Given the description of an element on the screen output the (x, y) to click on. 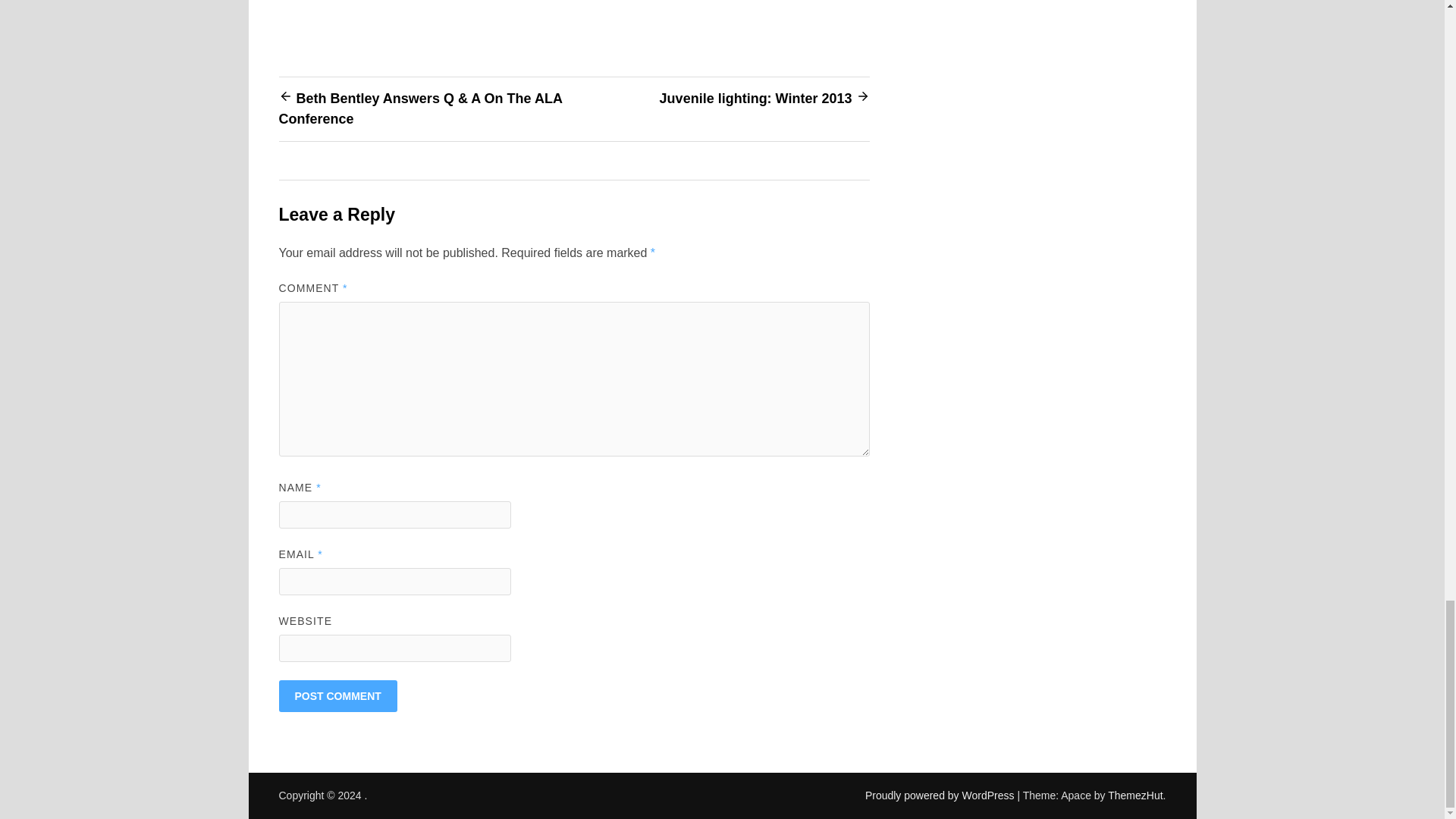
Juvenile lighting: Winter 2013 (755, 98)
Post Comment (338, 695)
Post Comment (338, 695)
